Given the description of an element on the screen output the (x, y) to click on. 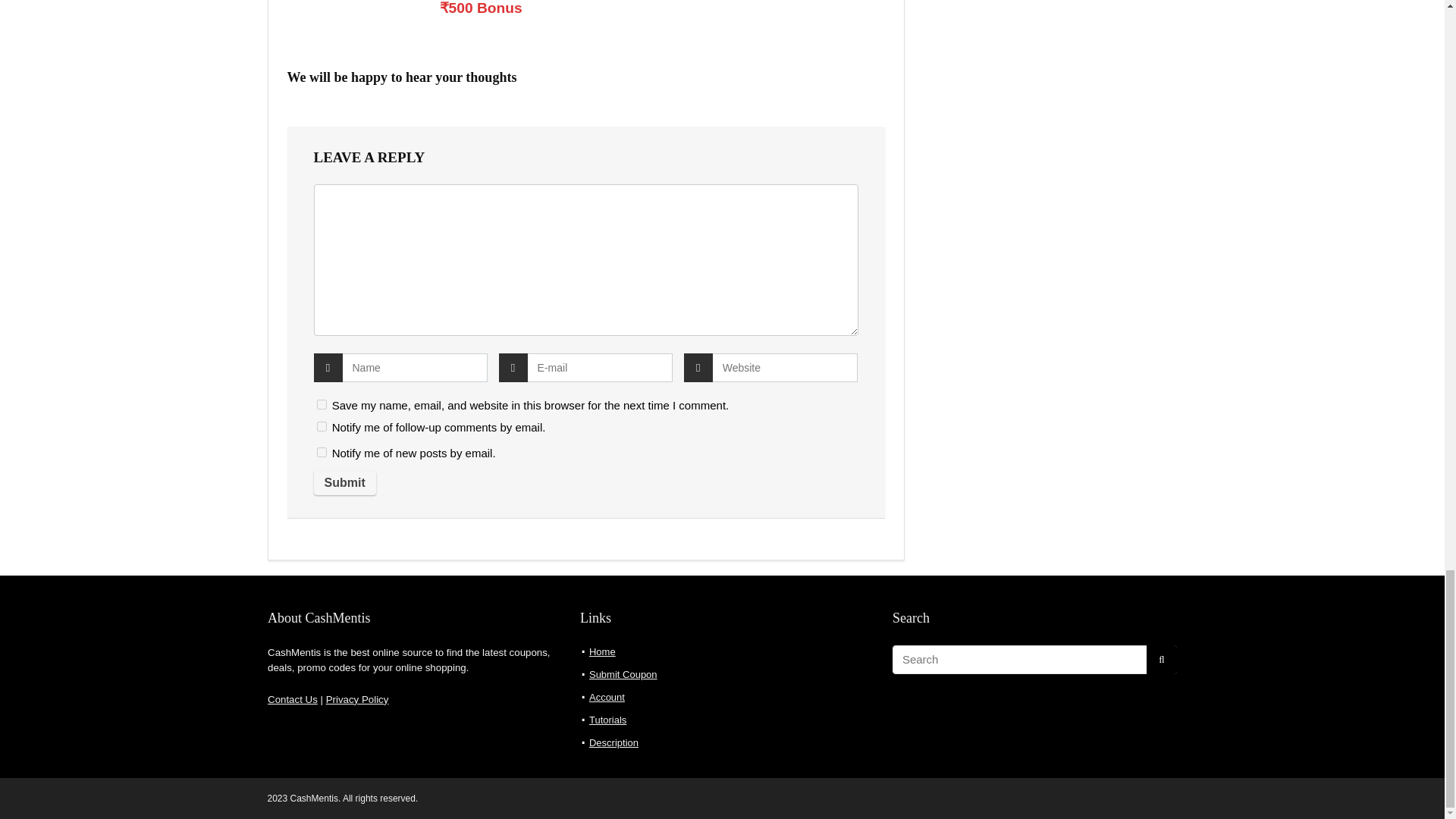
Submit (309, 529)
subscribe (294, 474)
subscribe (294, 501)
Submit (309, 529)
yes (294, 460)
